Given the description of an element on the screen output the (x, y) to click on. 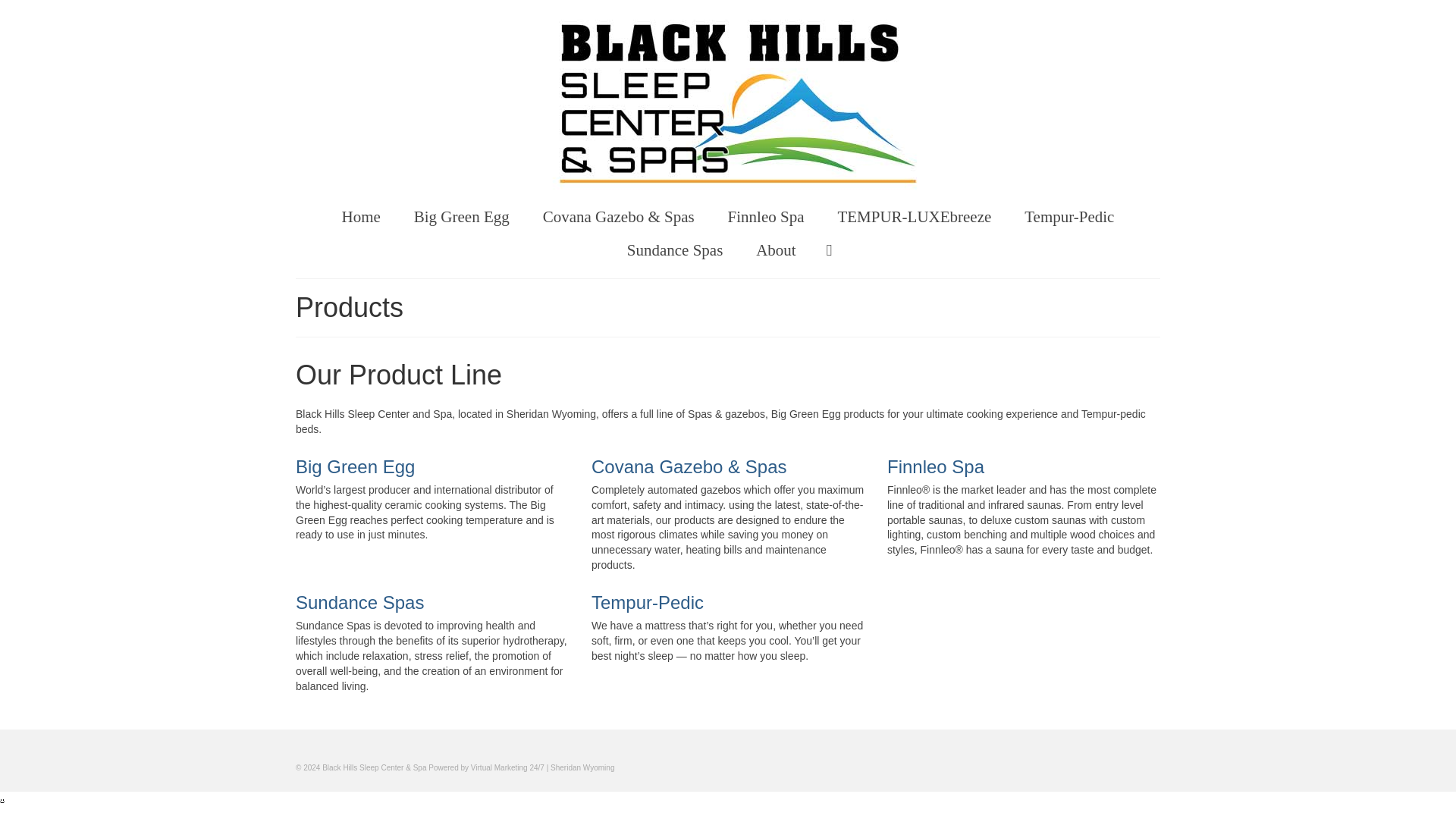
Finnleo Spa (766, 216)
Search (828, 249)
Big Green Egg (461, 216)
Sundance Spas (674, 249)
TEMPUR-LUXEbreeze (914, 216)
Tempur-Pedic (1069, 216)
Home (361, 216)
